Given the description of an element on the screen output the (x, y) to click on. 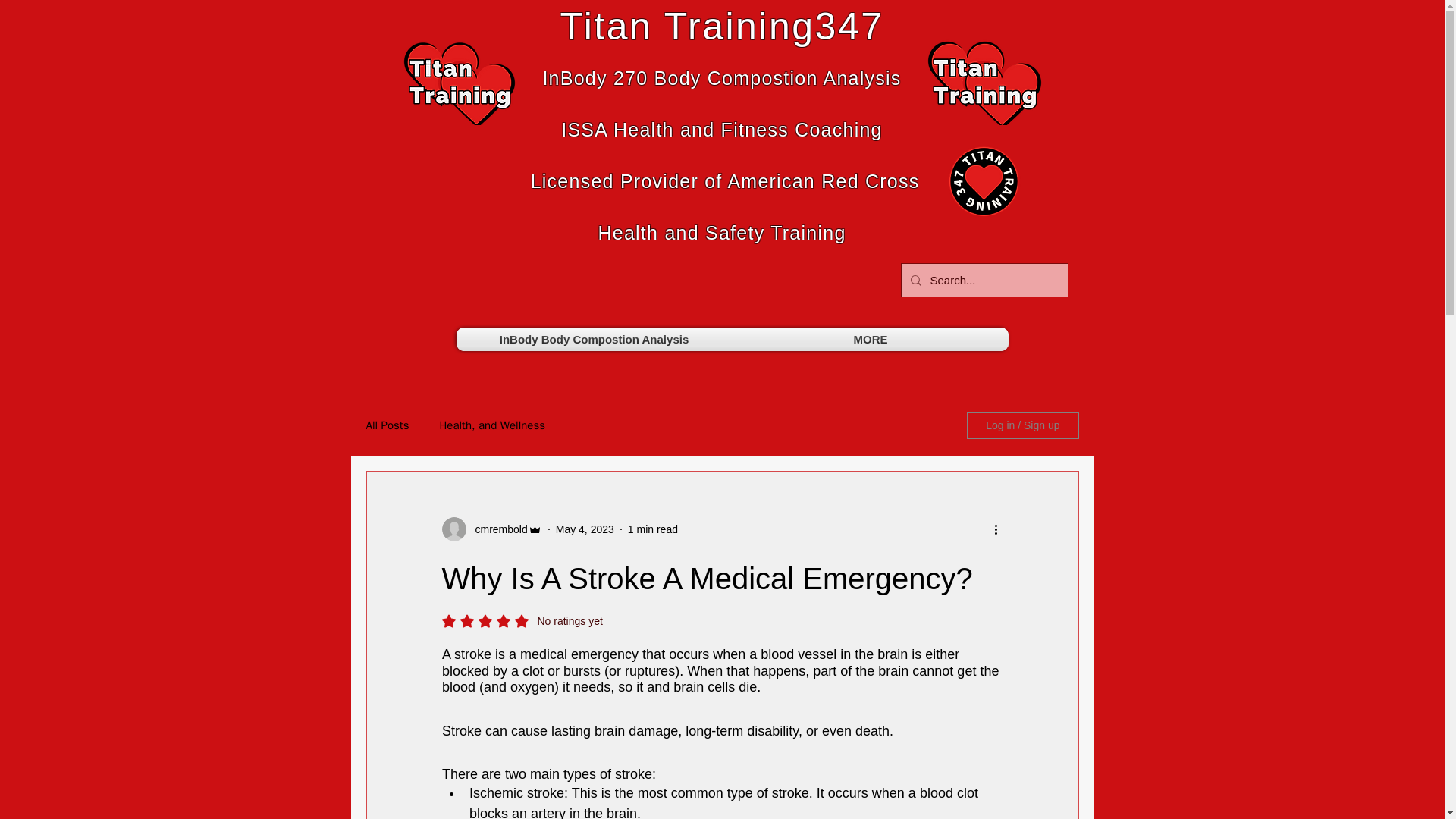
Health, and Wellness (491, 425)
All Posts (387, 425)
May 4, 2023 (585, 529)
InBody Body Compostion Analysis (594, 339)
250 X 250 PROFILE PIC.JPG (983, 78)
cmrembold (496, 529)
1 min read (652, 529)
